Given the description of an element on the screen output the (x, y) to click on. 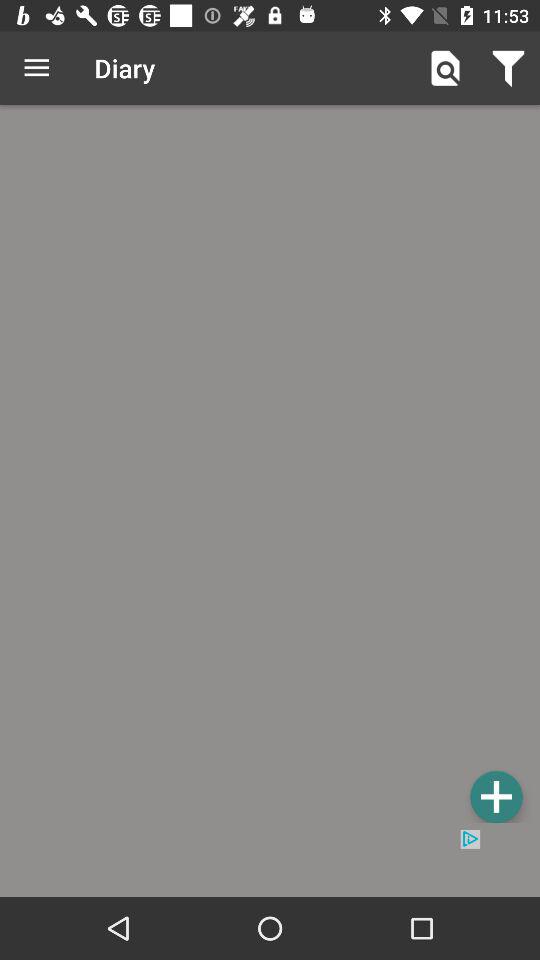
add to this screen (496, 796)
